Given the description of an element on the screen output the (x, y) to click on. 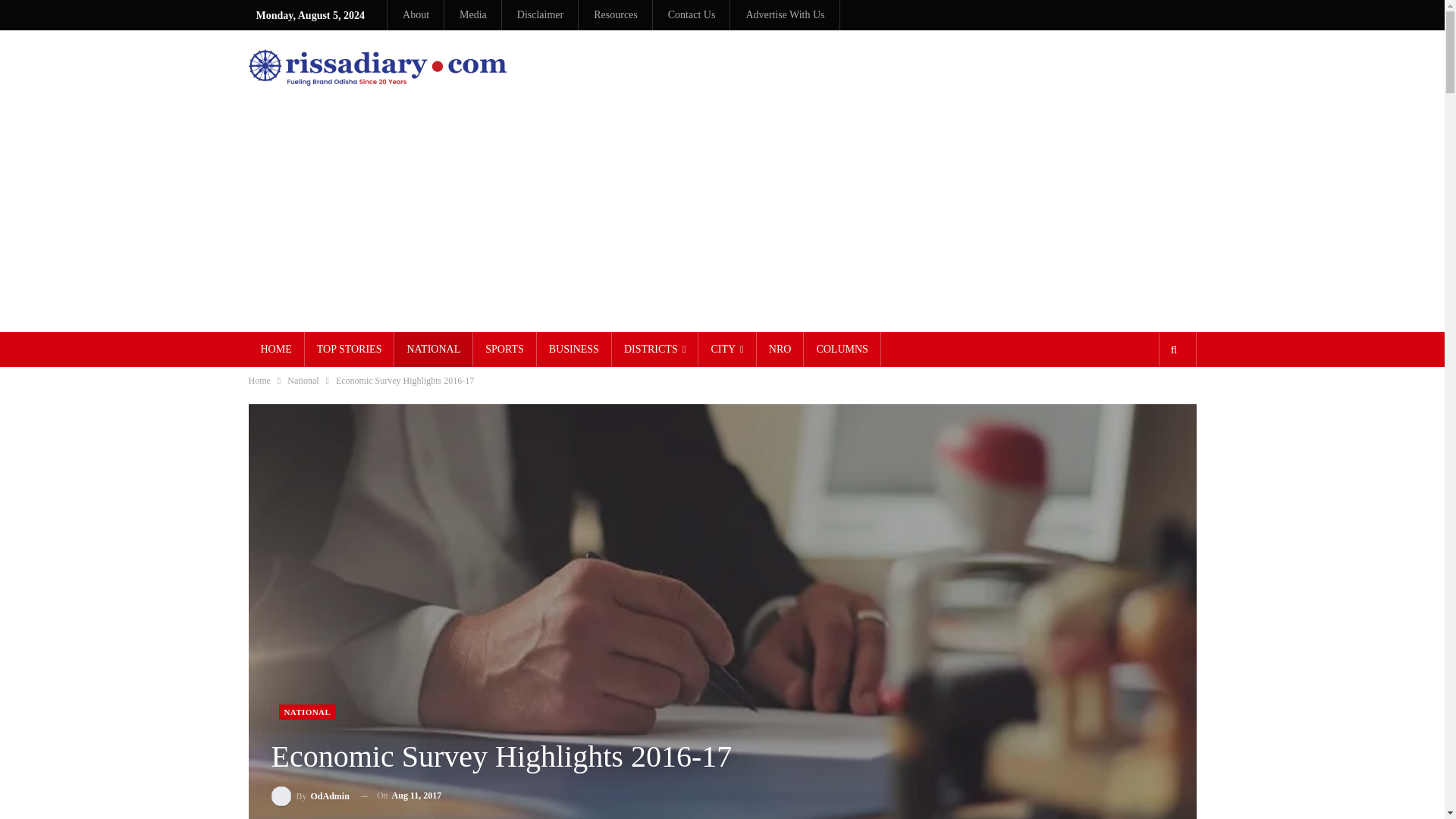
Media (473, 14)
Advertise With Us (784, 14)
NATIONAL (432, 349)
SPORTS (504, 349)
Contact Us (692, 14)
Disclaimer (539, 14)
HOME (276, 349)
Resources (615, 14)
BUSINESS (574, 349)
About (416, 14)
TOP STORIES (349, 349)
Browse Author Articles (309, 795)
DISTRICTS (654, 349)
